Given the description of an element on the screen output the (x, y) to click on. 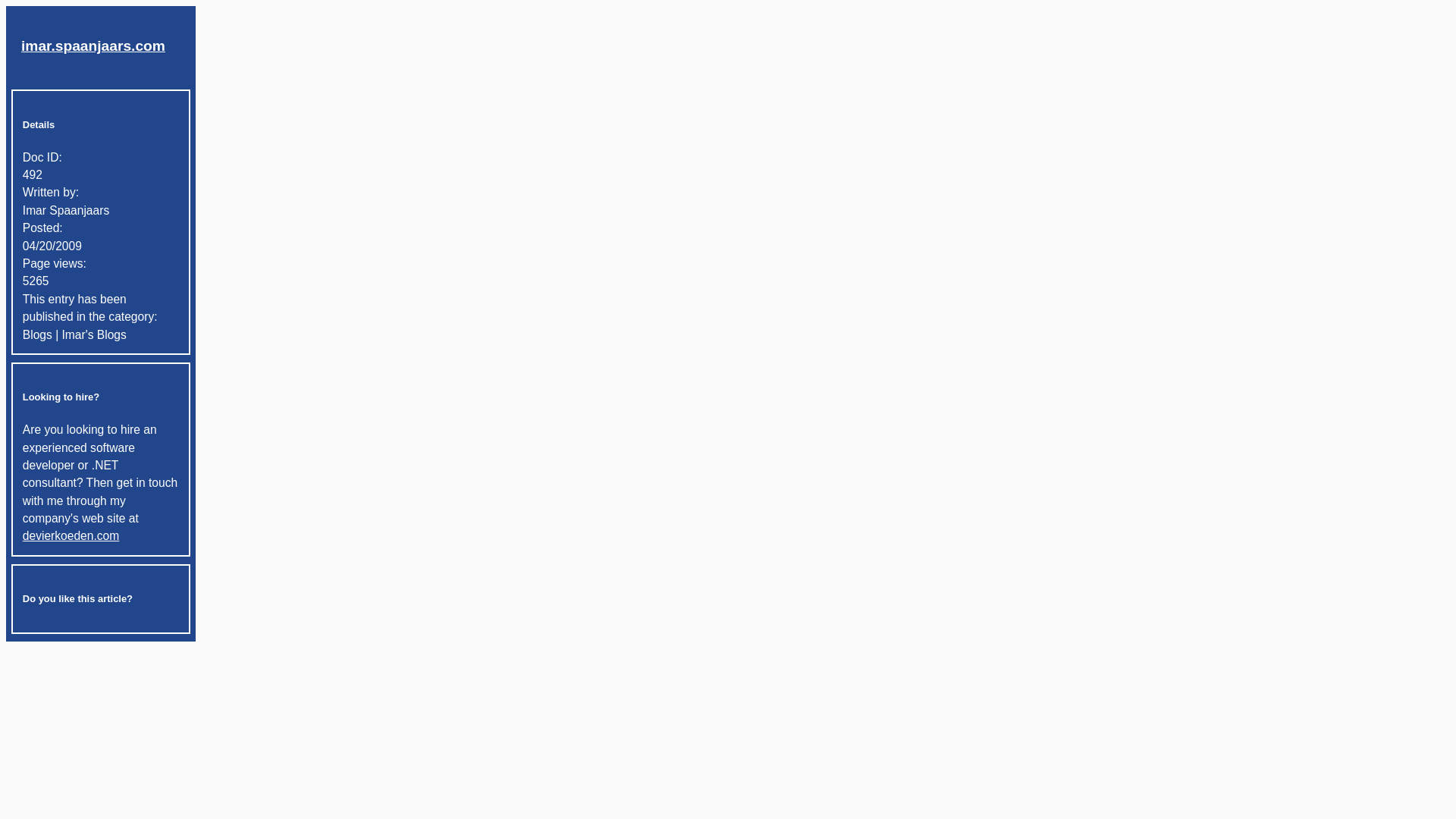
15 years ago (101, 245)
imar.spaanjaars.com (93, 45)
devierkoeden.com (71, 535)
